Given the description of an element on the screen output the (x, y) to click on. 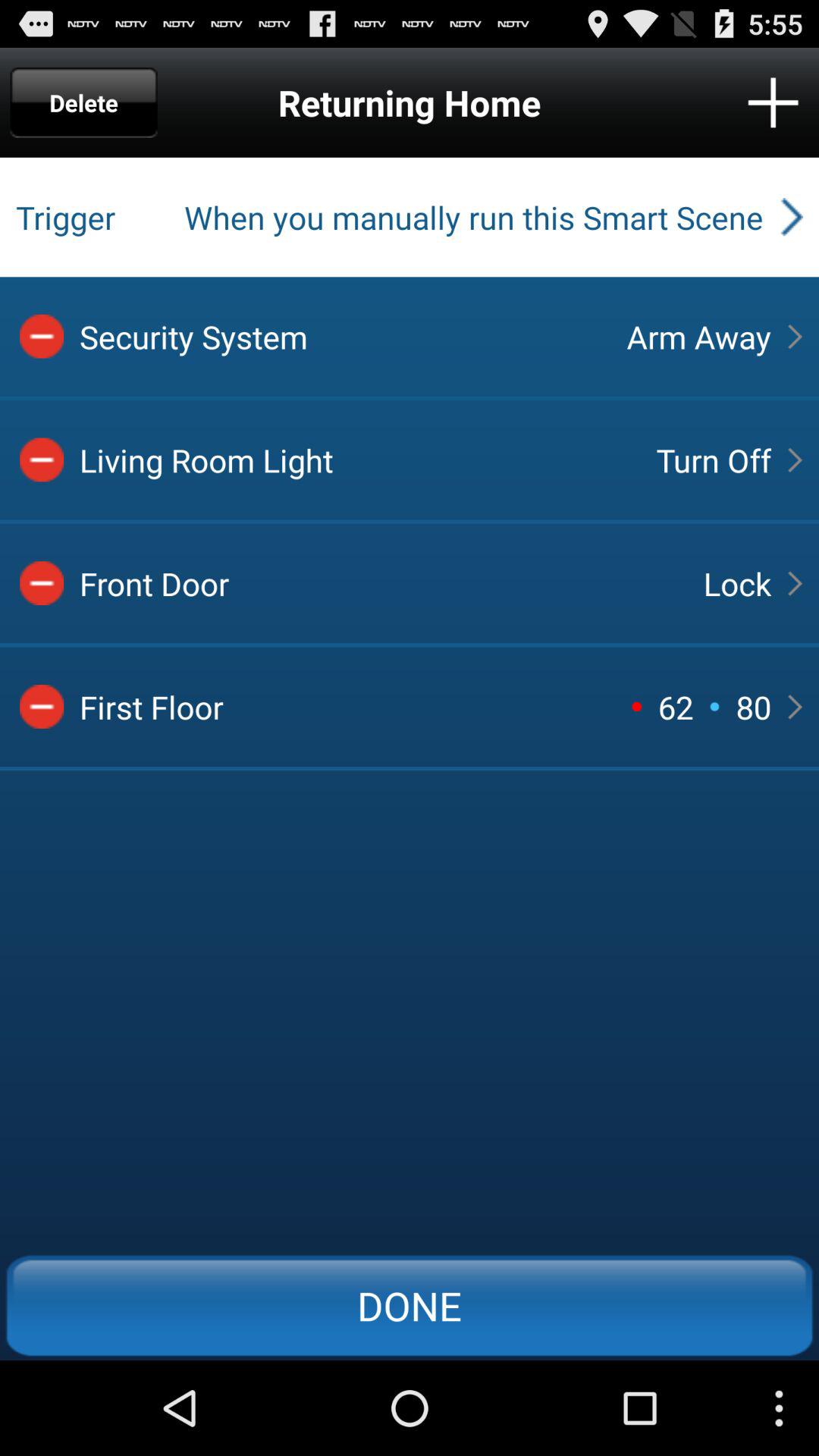
turn off item below the turn off app (737, 583)
